Given the description of an element on the screen output the (x, y) to click on. 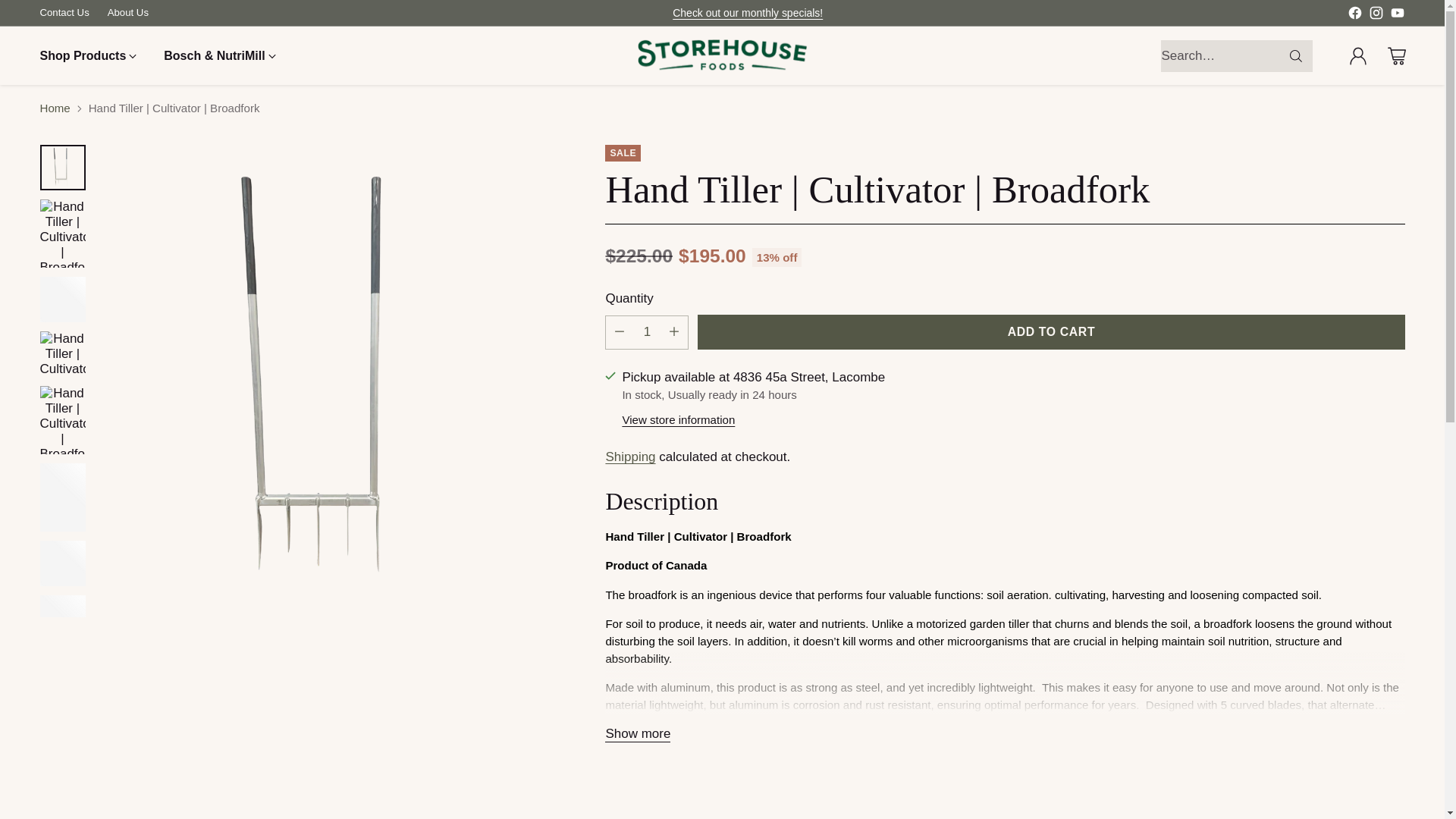
Shop Products (87, 55)
Contact Us (63, 12)
About Us (127, 12)
Check out our monthly specials! (747, 12)
Check out our monthly specials! (747, 12)
Check out our monthly specials! (747, 12)
